Given the description of an element on the screen output the (x, y) to click on. 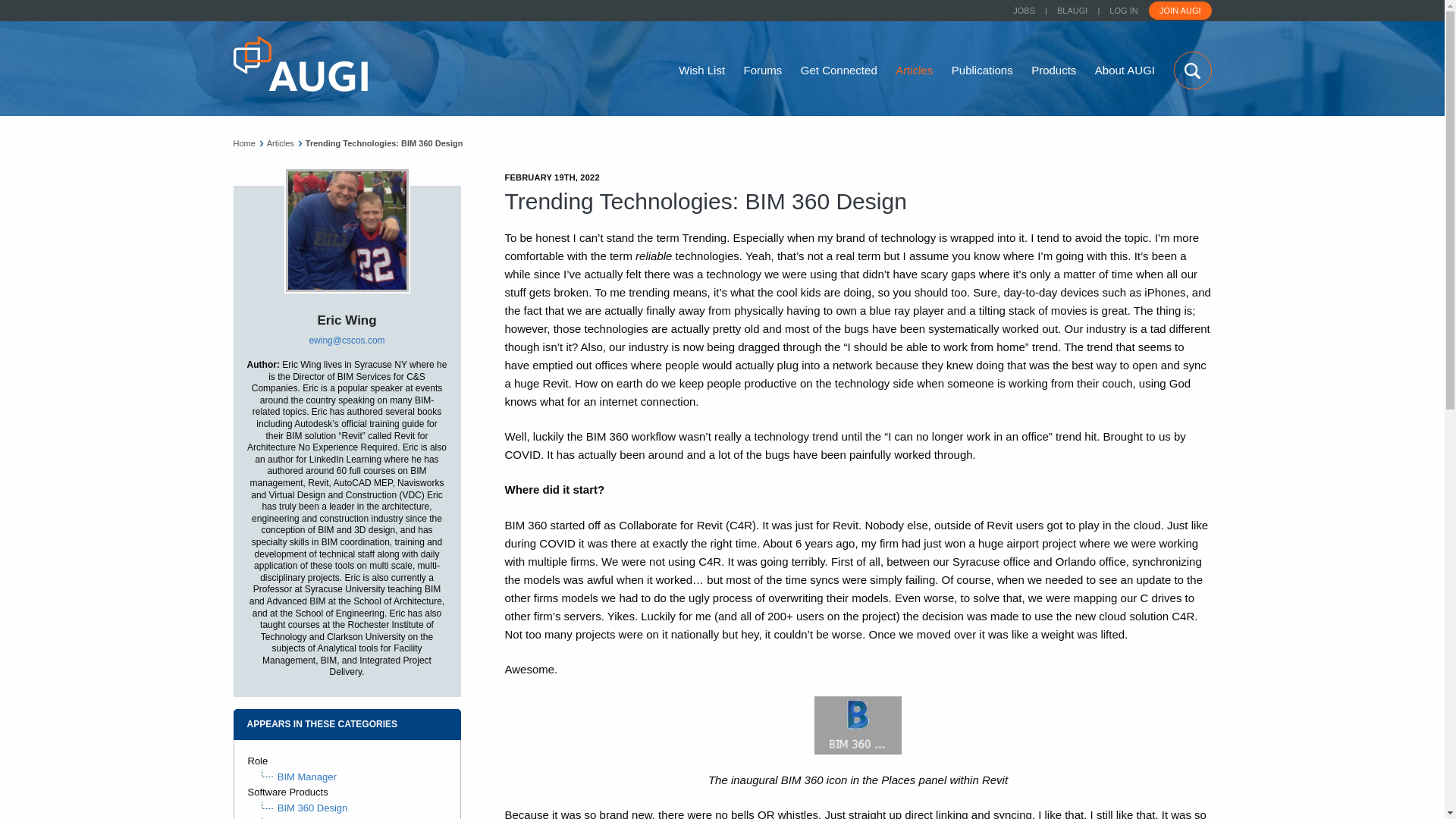
Products (1052, 70)
AUGI AUGI, Inc. (300, 63)
Publications (982, 70)
About AUGI (1124, 70)
Search (1192, 70)
Get Connected (838, 70)
JOBS (1024, 10)
Forums (763, 70)
JOIN AUGI (1179, 10)
Wish List (701, 70)
